Given the description of an element on the screen output the (x, y) to click on. 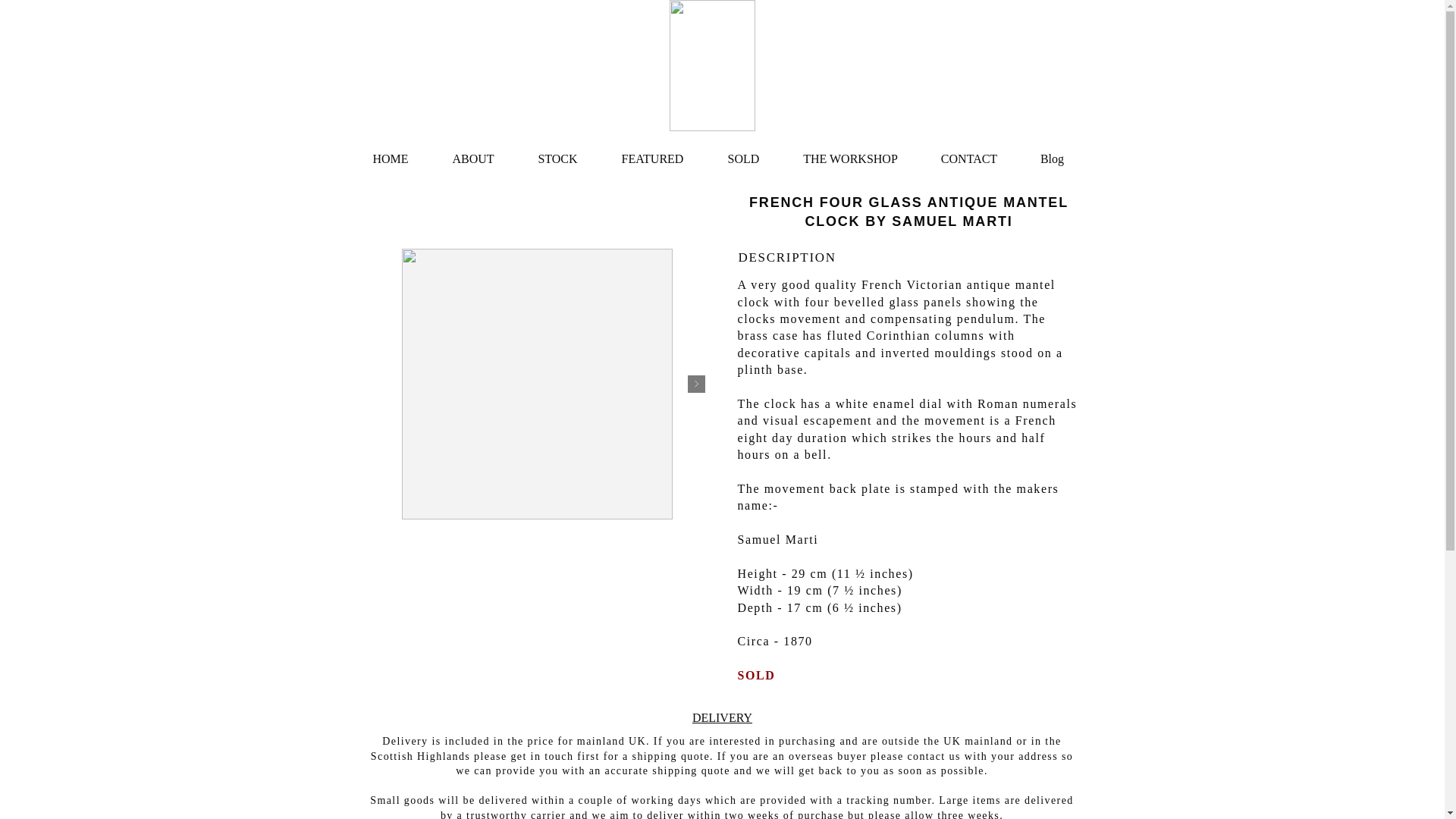
Blog (1052, 151)
THE WORKSHOP (849, 151)
SOLD (742, 151)
CONTACT (967, 151)
HOME (389, 151)
ABOUT (473, 151)
STOCK (556, 151)
FEATURED (651, 151)
DELIVERY (722, 717)
